Given the description of an element on the screen output the (x, y) to click on. 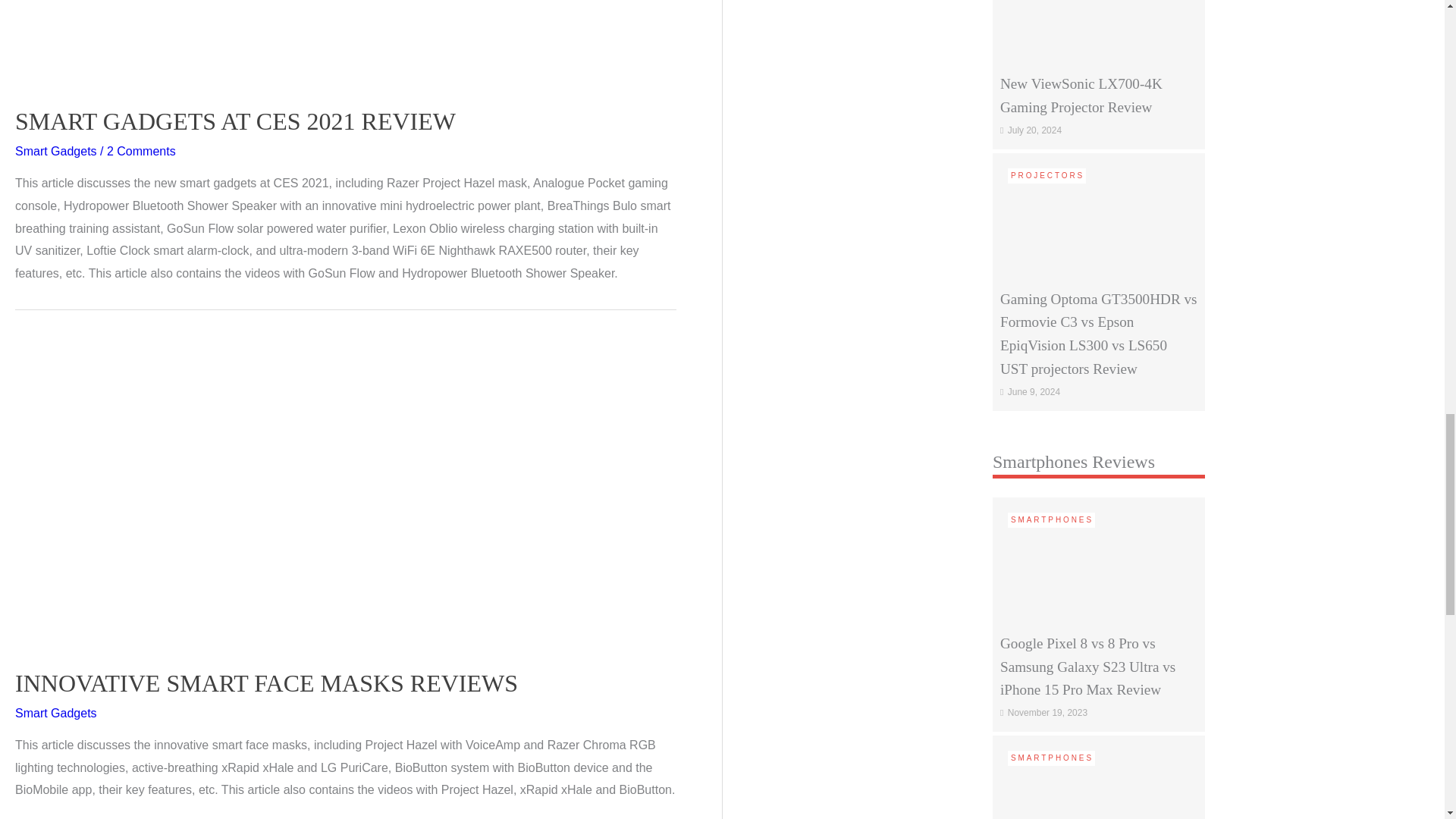
New Google Pixel Fold, Pixel Tablet and Pixel 7a Review (1098, 797)
New ViewSonic LX700-4K Gaming Projector Review (1098, 3)
